Given the description of an element on the screen output the (x, y) to click on. 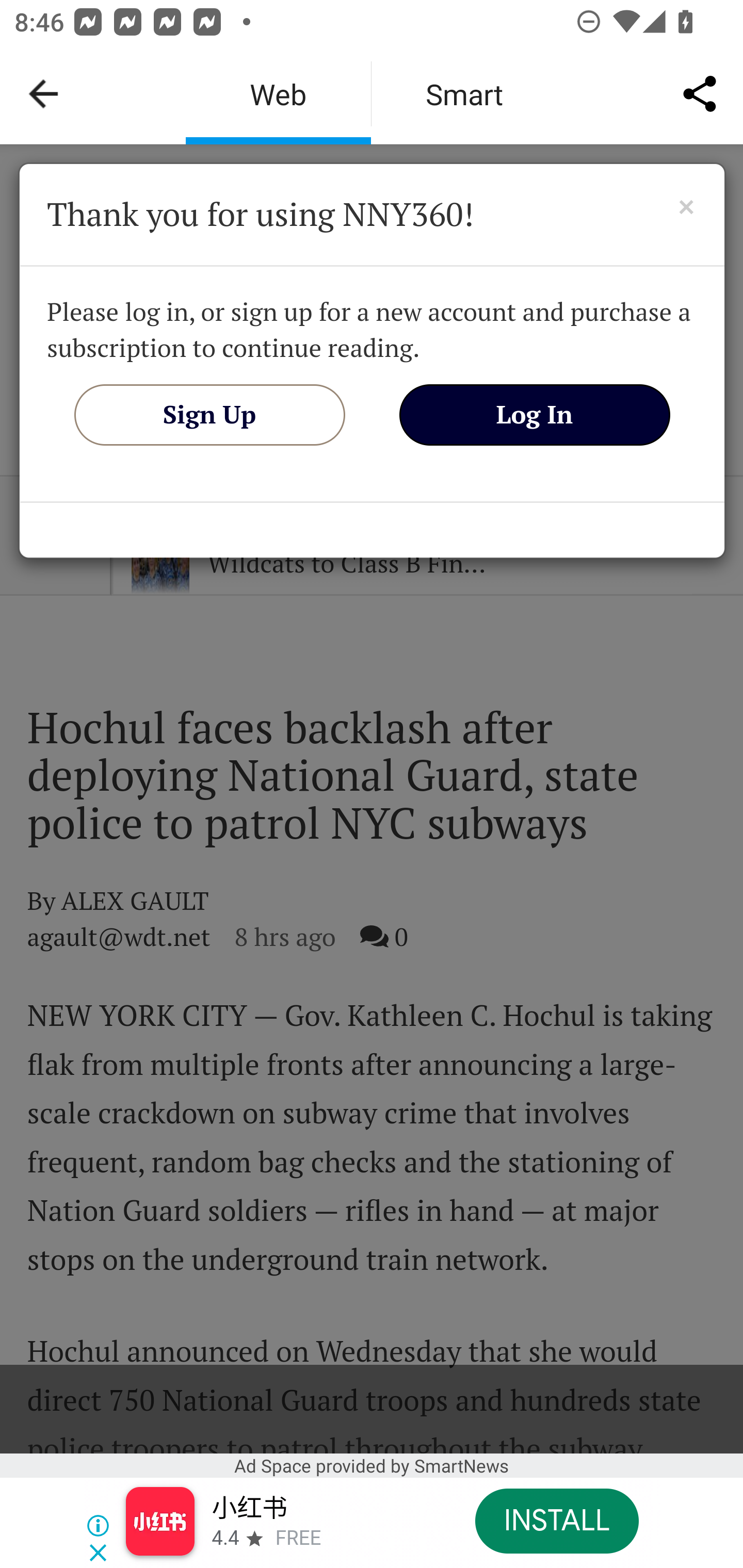
Web (277, 93)
Smart (464, 93)
Sign Up (209, 413)
Log In (534, 413)
INSTALL (556, 1520)
小红书 (249, 1508)
